Given the description of an element on the screen output the (x, y) to click on. 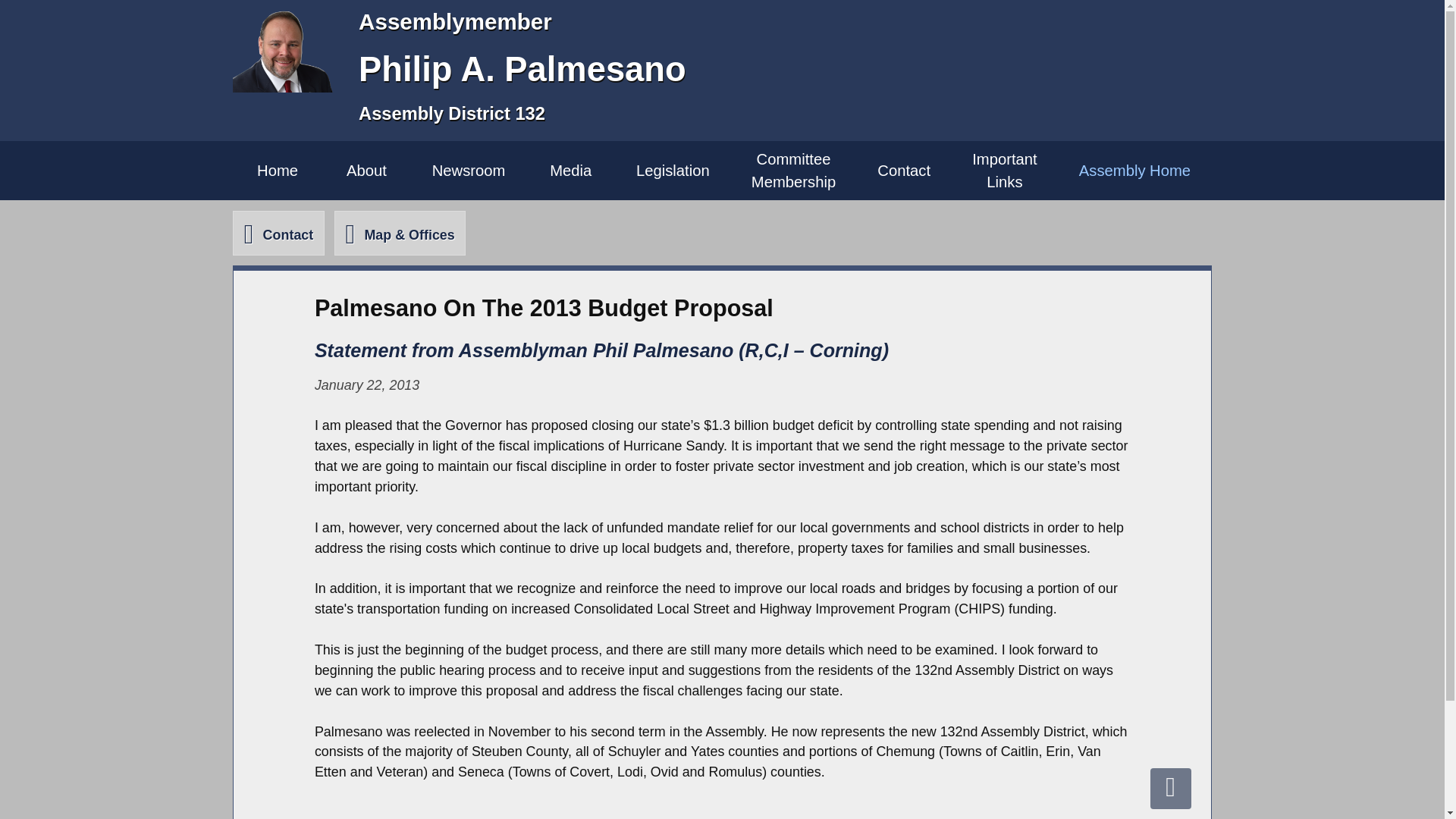
Contact (277, 232)
Home (276, 169)
Contact (793, 169)
Newsroom (904, 169)
Media (467, 169)
Assembly Home (569, 169)
About (1134, 169)
Legislation (365, 169)
